Given the description of an element on the screen output the (x, y) to click on. 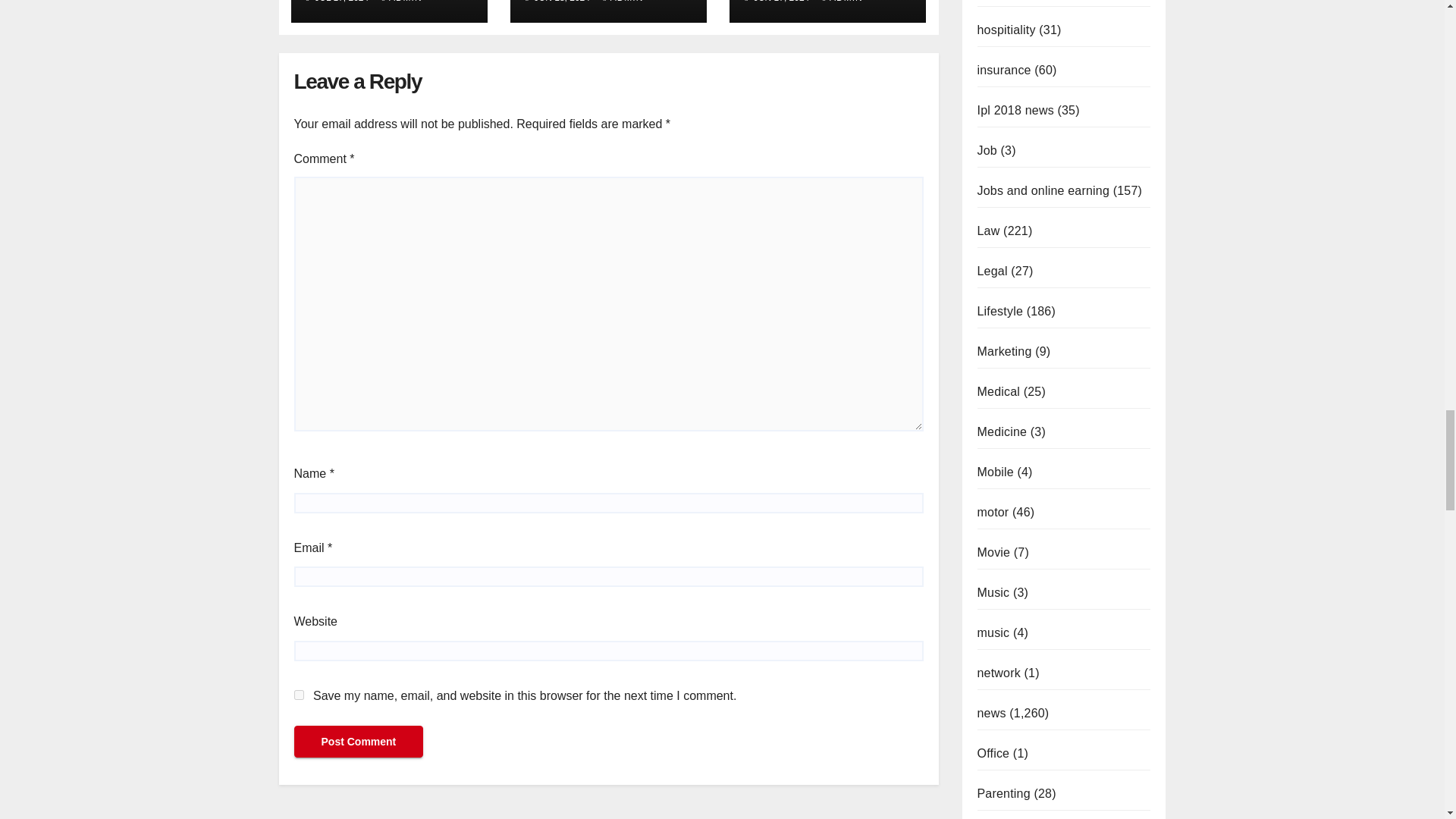
Post Comment (358, 741)
ADMIN (622, 1)
yes (299, 695)
ADMIN (401, 1)
